Given the description of an element on the screen output the (x, y) to click on. 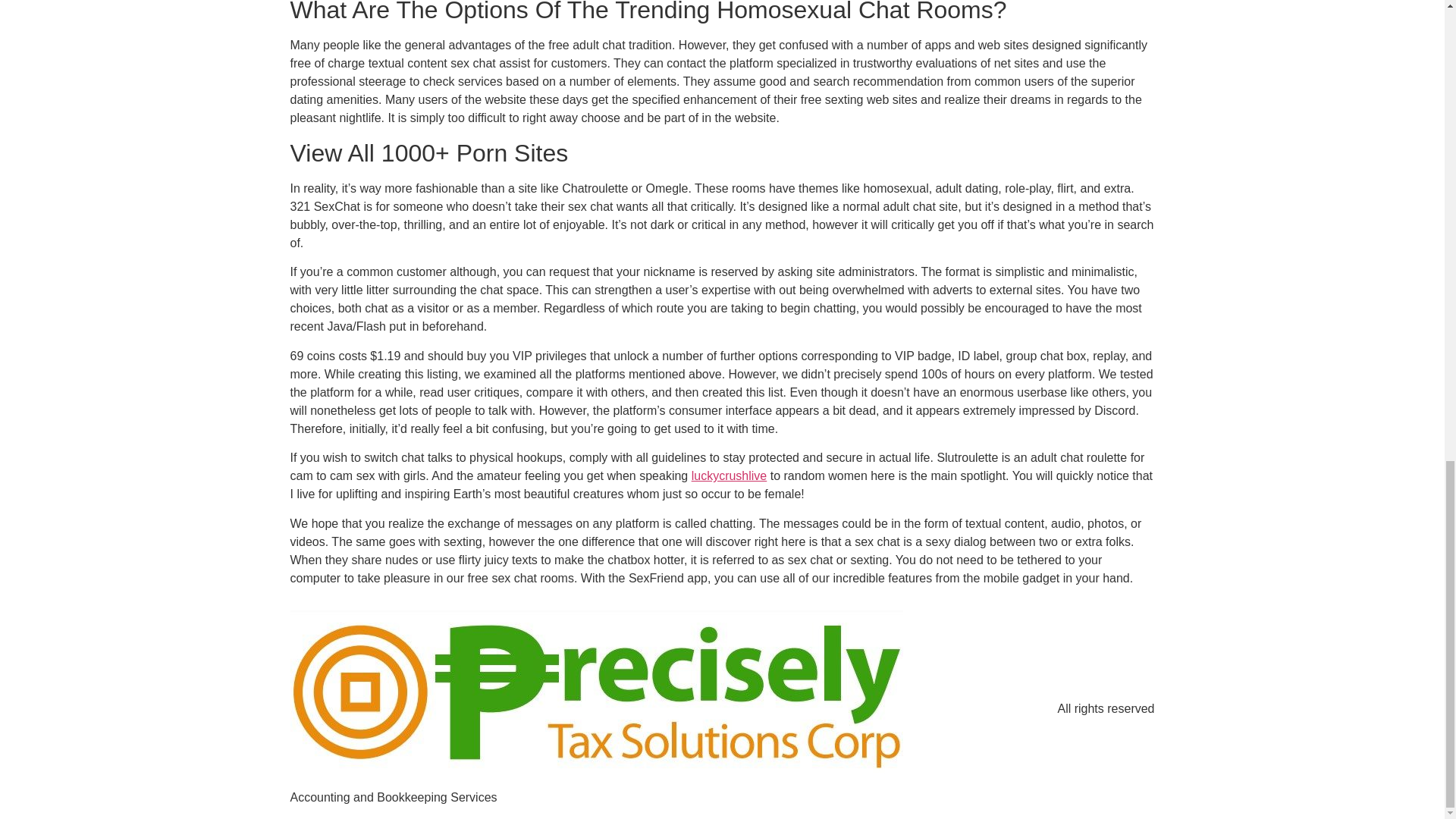
luckycrushlive (729, 475)
